Given the description of an element on the screen output the (x, y) to click on. 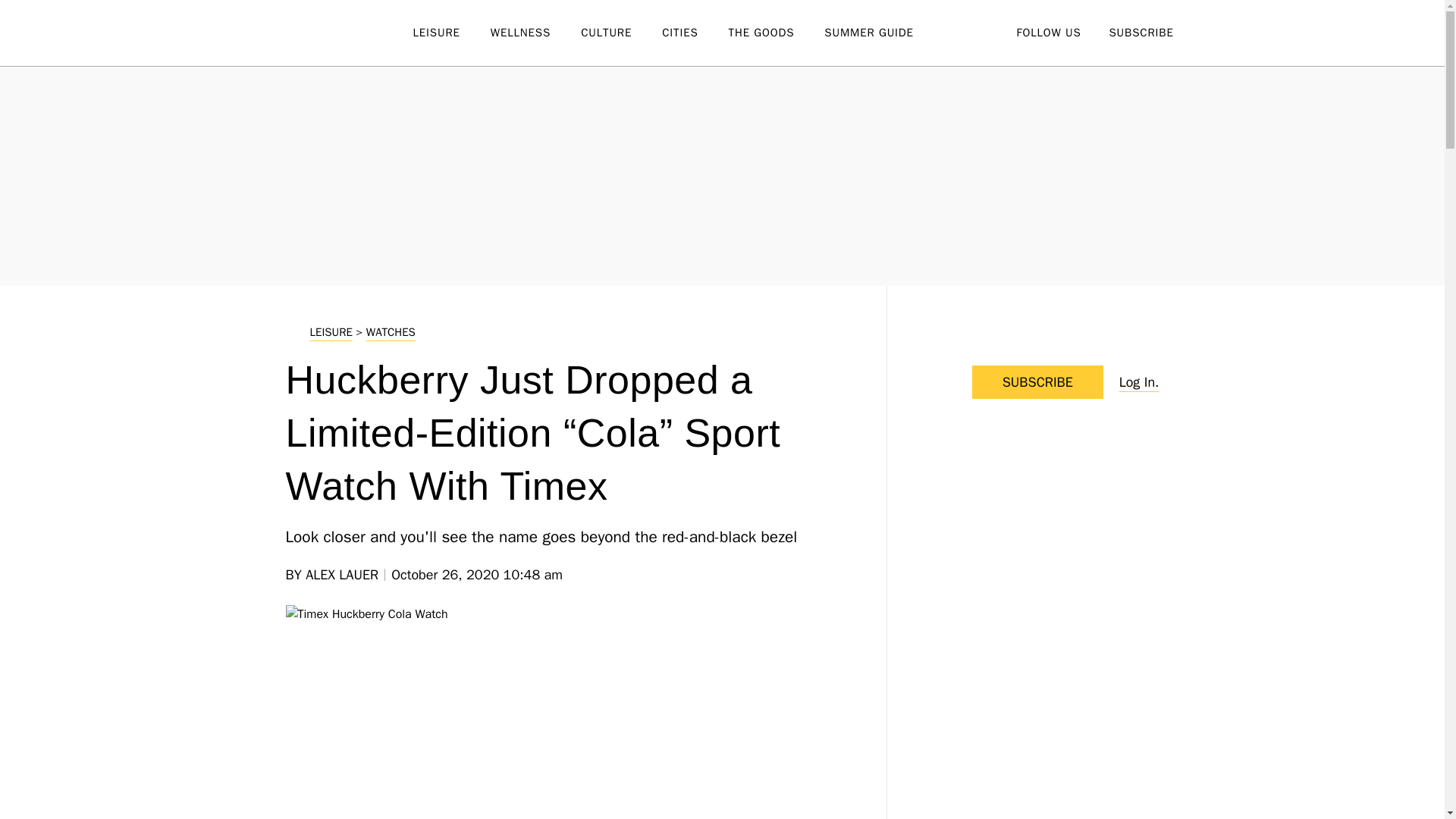
CITIES (695, 32)
SUMMER GUIDE (883, 32)
WELLNESS (535, 32)
FOLLOW US (1048, 32)
CULTURE (621, 32)
LEISURE (450, 32)
SUBSCRIBE (1140, 32)
THE GOODS (777, 32)
